Given the description of an element on the screen output the (x, y) to click on. 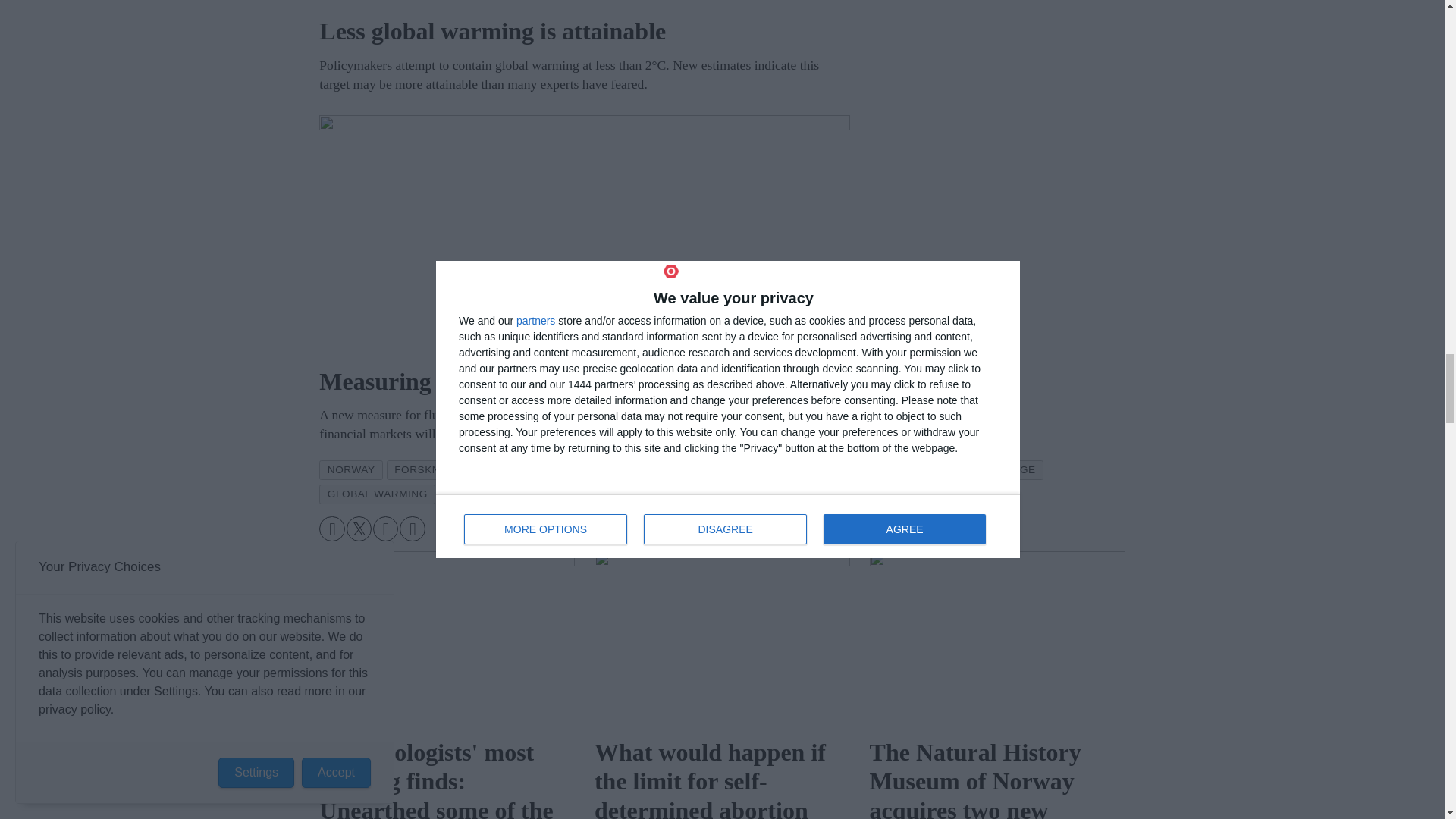
Measuring the global economy (584, 234)
